Given the description of an element on the screen output the (x, y) to click on. 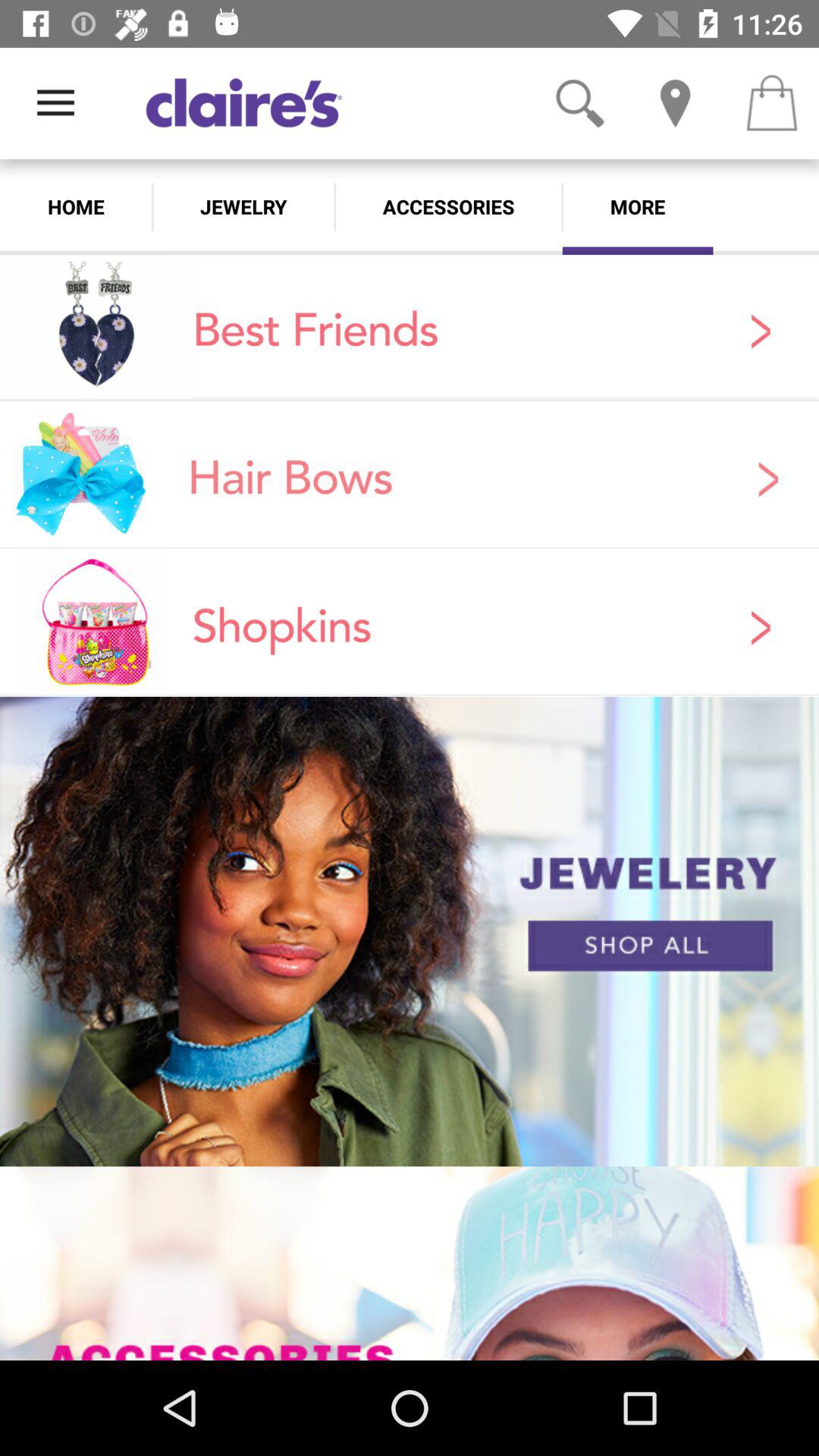
open the icon next to the home icon (243, 206)
